Given the description of an element on the screen output the (x, y) to click on. 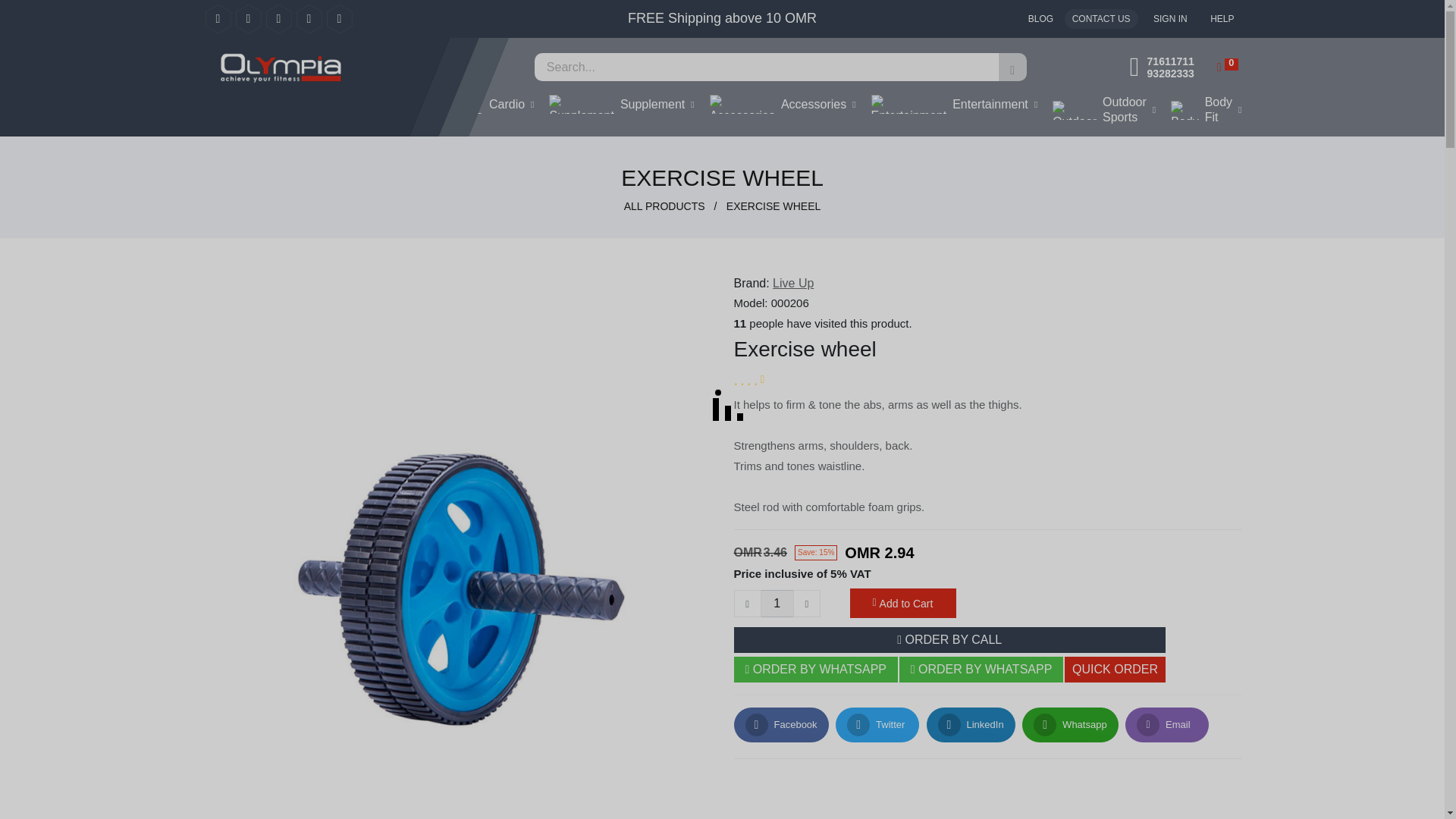
4.67 (748, 379)
Facebook Share Button (780, 724)
BLOG (1039, 19)
Twitter Share Button (876, 724)
Email Share Button (1166, 724)
Cardio (490, 104)
93282333 (1170, 72)
Remove one (747, 603)
Whatsapp Share Button (1070, 724)
HELP (1221, 19)
